Given the description of an element on the screen output the (x, y) to click on. 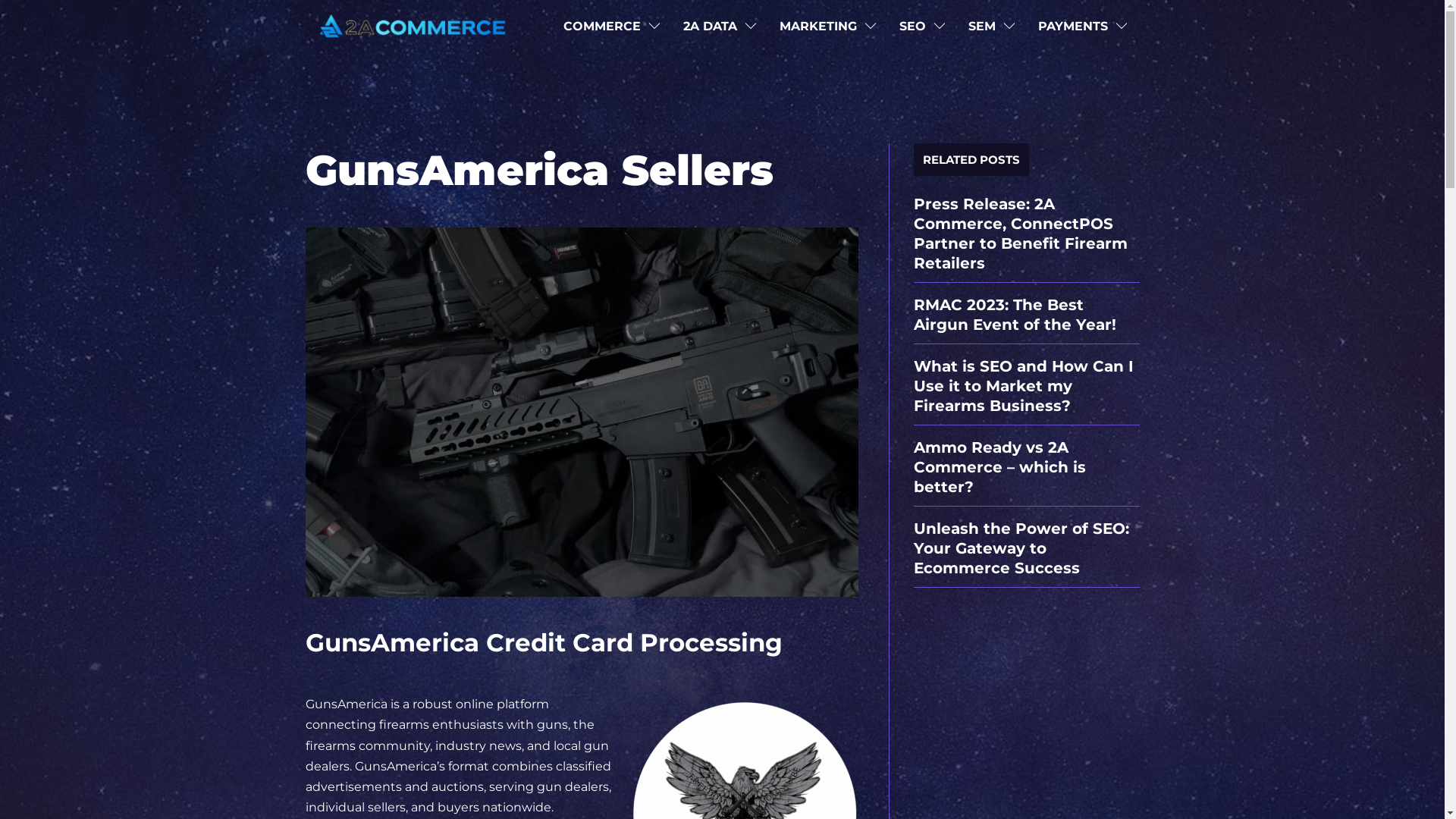
SEM Element type: text (980, 25)
RMAC 2023: The Best Airgun Event of the Year! Element type: text (1014, 314)
SEO Element type: text (912, 25)
COMMERCE Element type: text (601, 25)
2A DATA Element type: text (709, 25)
Unleash the Power of SEO: Your Gateway to Ecommerce Success Element type: text (1020, 548)
MARKETING Element type: text (817, 25)
PAYMENTS Element type: text (1072, 25)
